Given the description of an element on the screen output the (x, y) to click on. 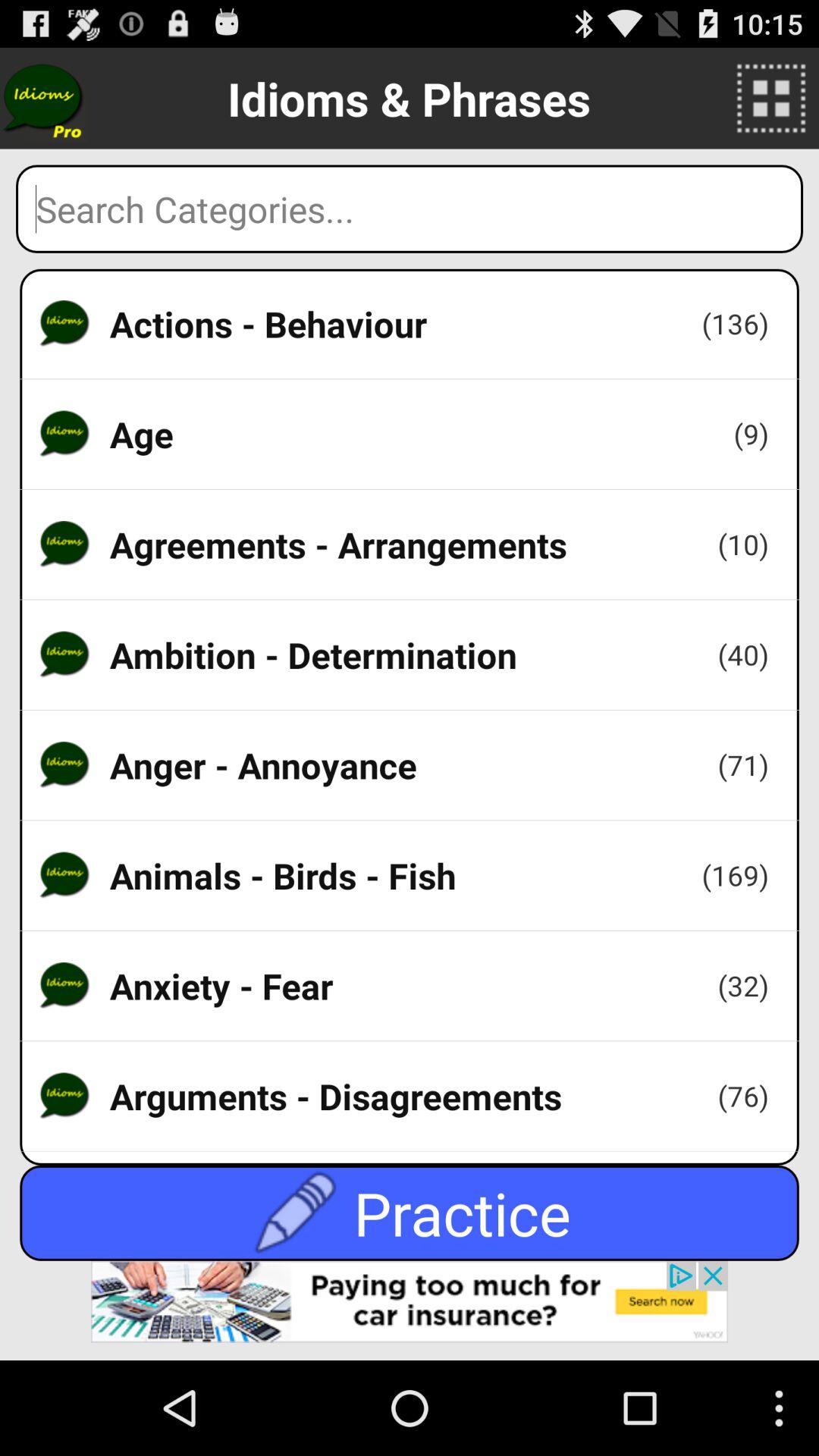
search box (409, 208)
